Given the description of an element on the screen output the (x, y) to click on. 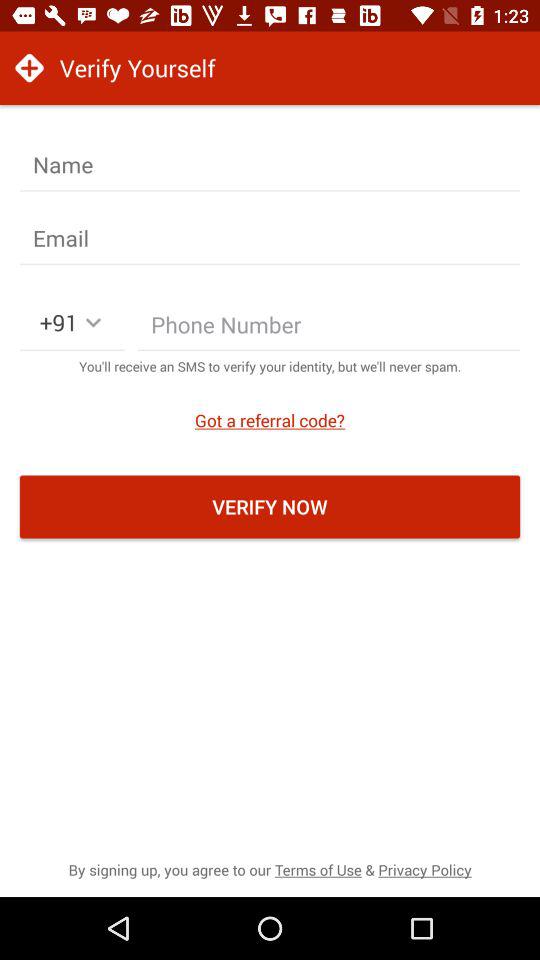
choose the got a referral (269, 419)
